Given the description of an element on the screen output the (x, y) to click on. 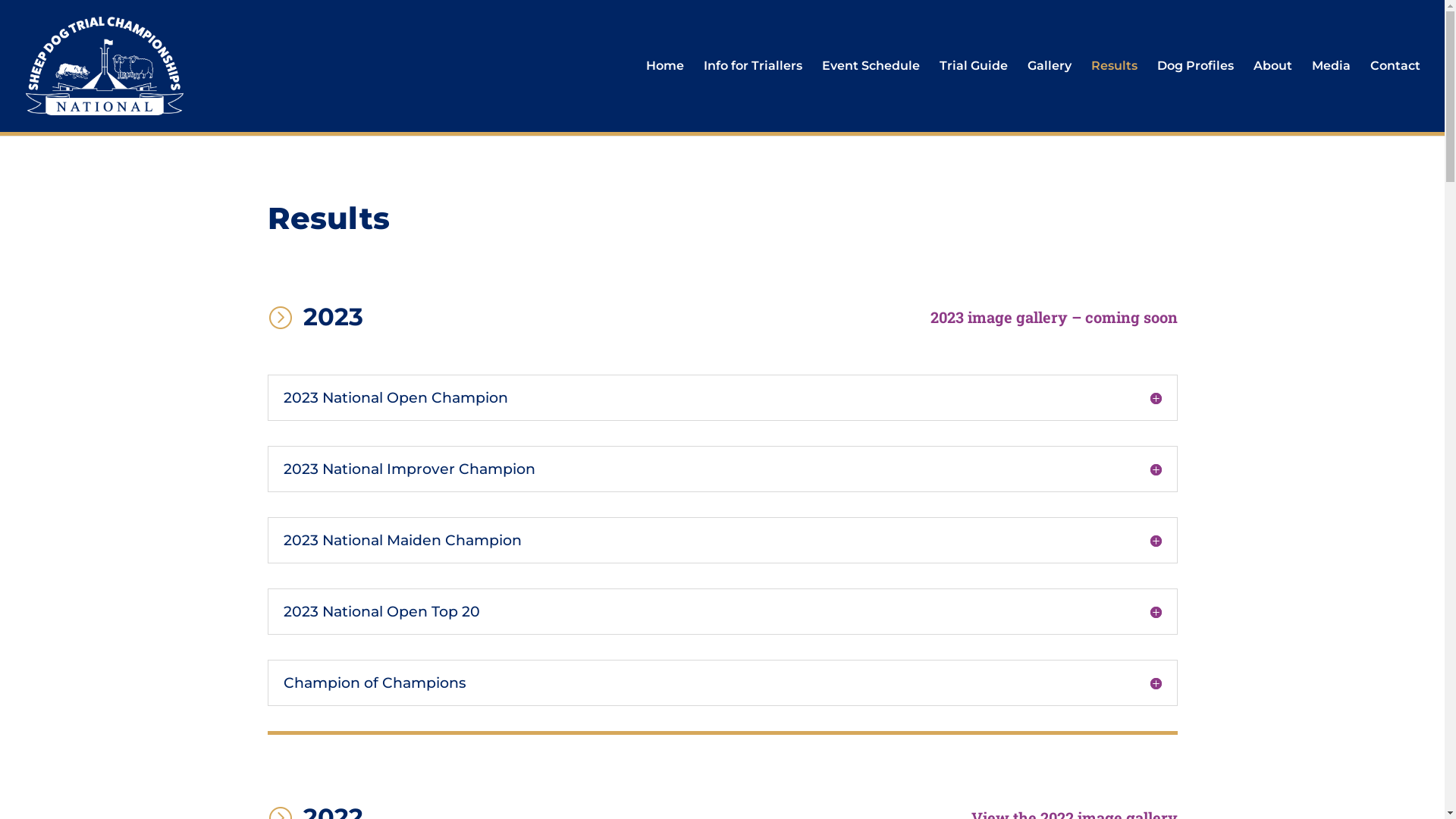
Event Schedule Element type: text (870, 95)
Media Element type: text (1330, 95)
Dog Profiles Element type: text (1195, 95)
Results Element type: text (1114, 95)
Gallery Element type: text (1049, 95)
Home Element type: text (665, 95)
About Element type: text (1272, 95)
Contact Element type: text (1395, 95)
Info for Triallers Element type: text (752, 95)
Trial Guide Element type: text (973, 95)
